Given the description of an element on the screen output the (x, y) to click on. 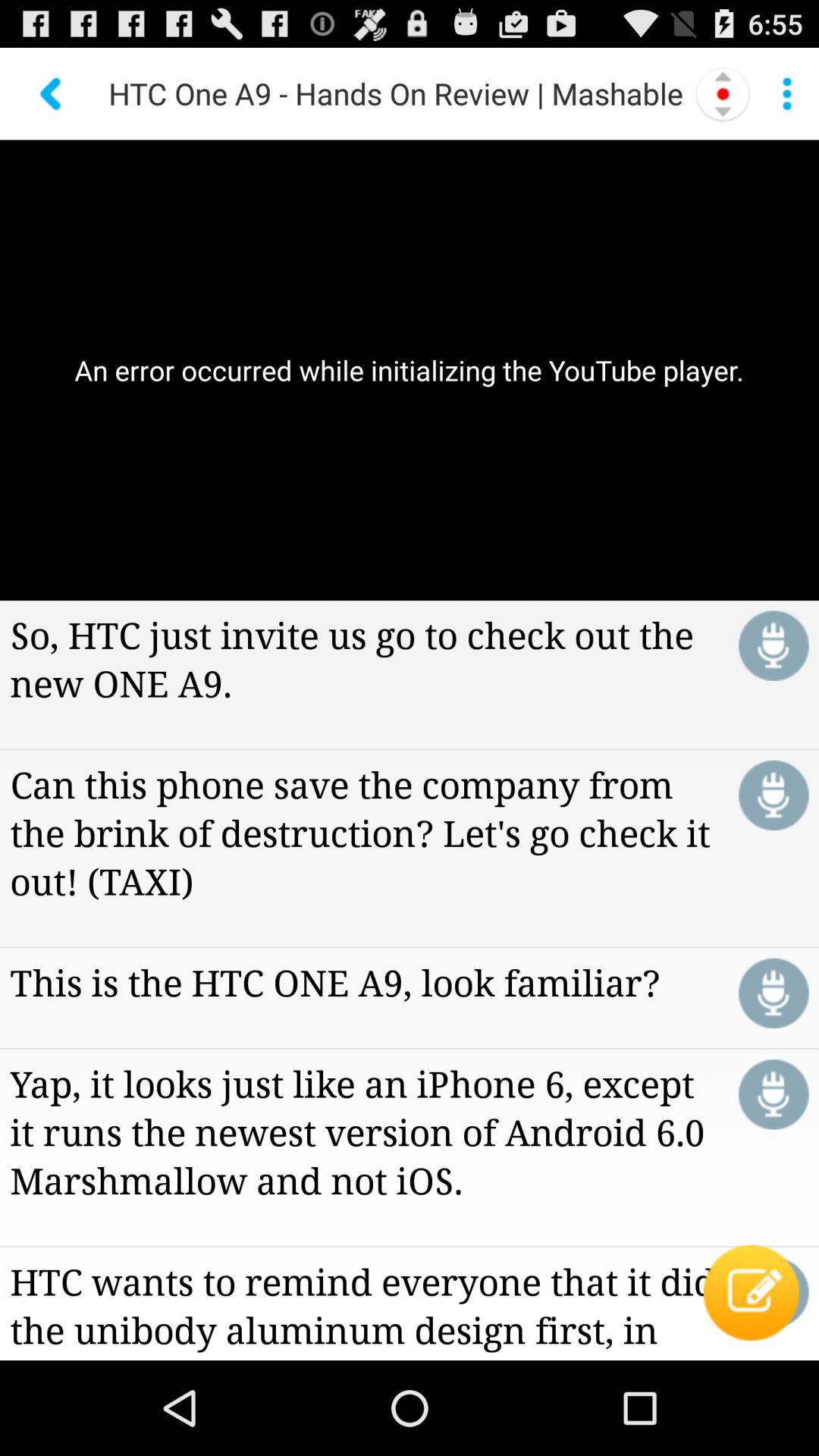
switch to listen (773, 993)
